Given the description of an element on the screen output the (x, y) to click on. 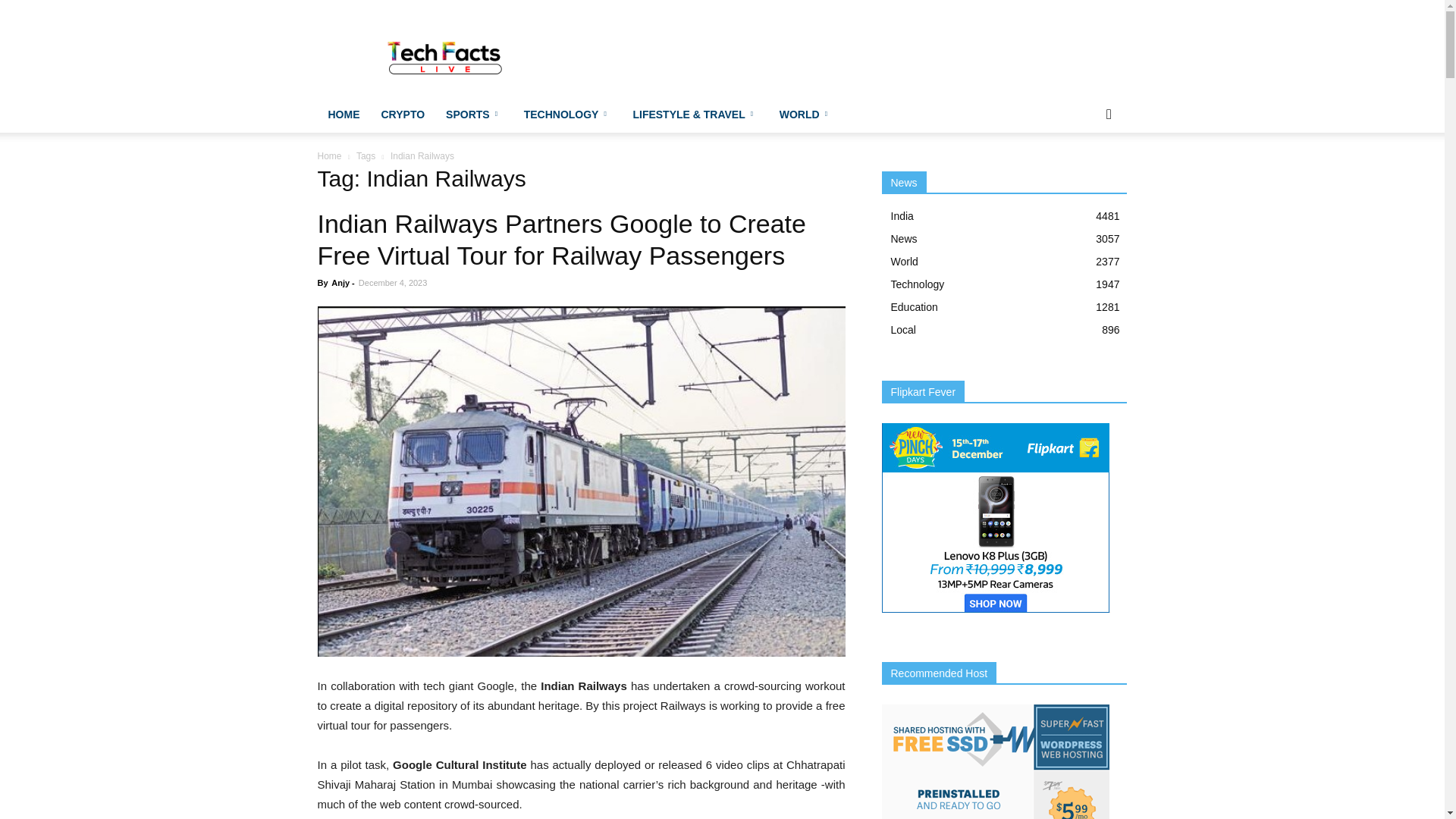
TF Live (446, 55)
TECHNOLOGY (568, 114)
SPORTS (474, 114)
CRYPTO (402, 114)
HOME (343, 114)
WORLD (805, 114)
